Given the description of an element on the screen output the (x, y) to click on. 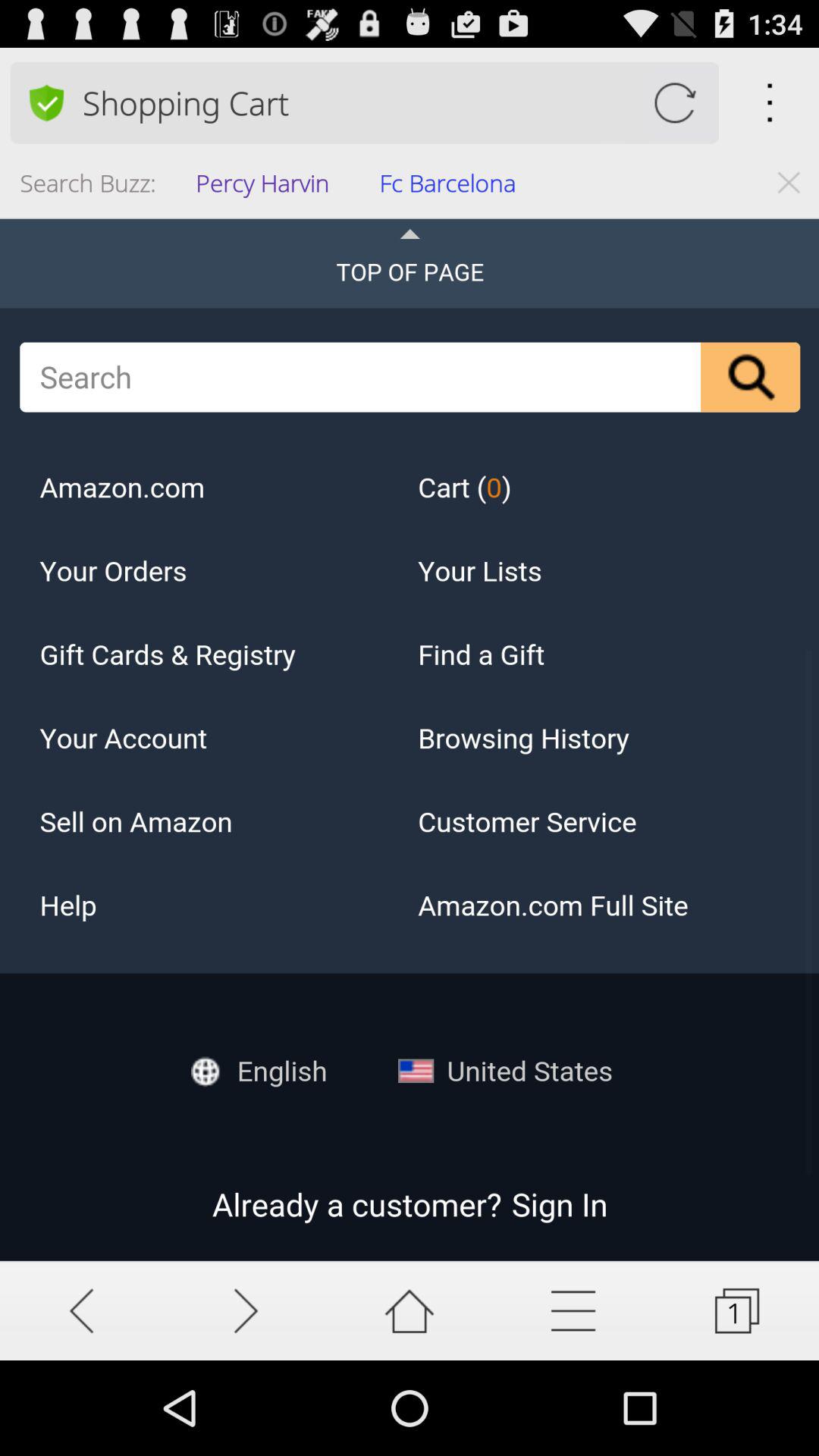
select the app above the percy harvin item (400, 102)
